Given the description of an element on the screen output the (x, y) to click on. 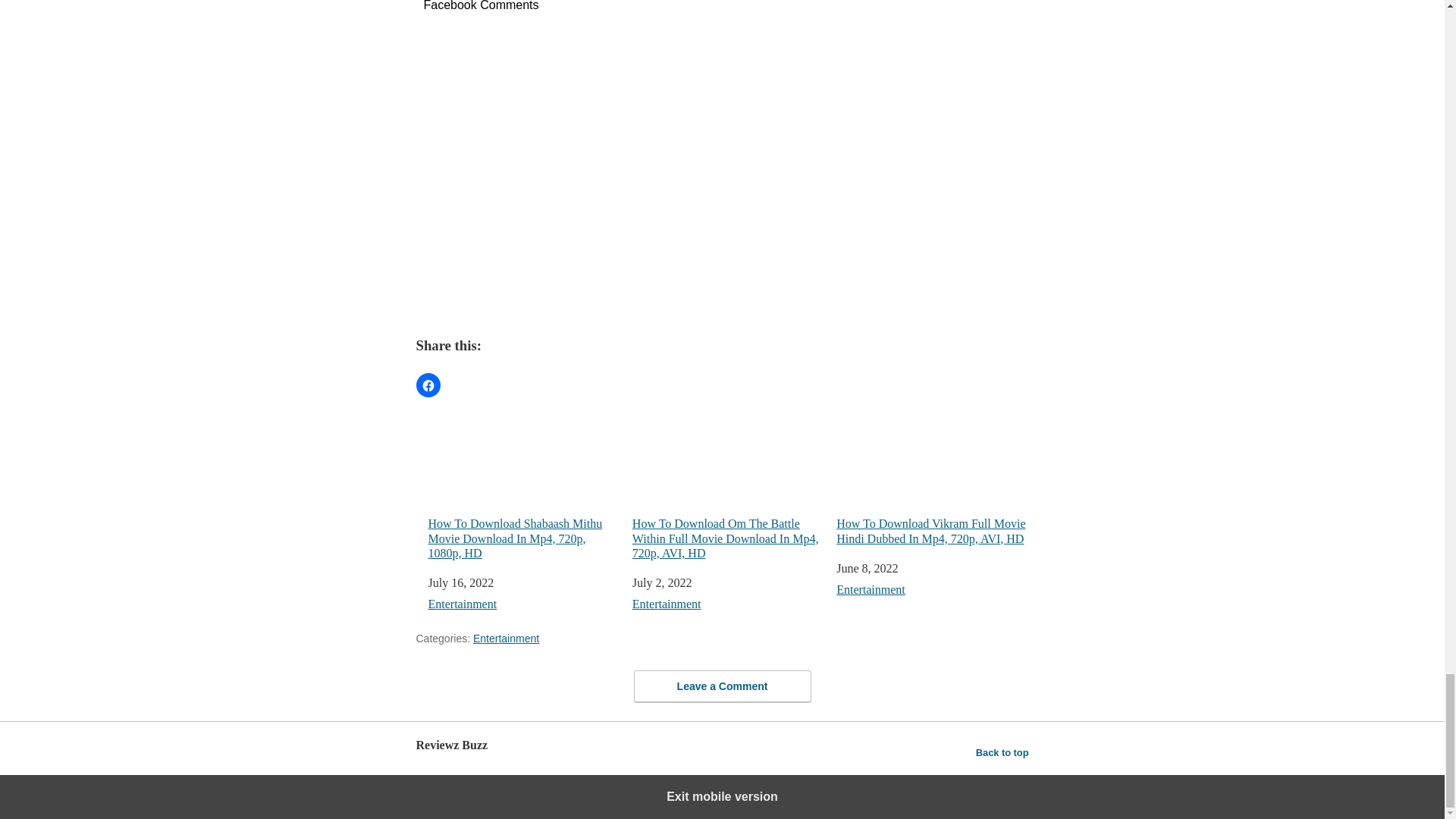
Entertainment (870, 589)
Back to top (1002, 752)
Leave a Comment (721, 686)
Entertainment (462, 603)
Entertainment (666, 603)
Click to share on Facebook (426, 385)
Entertainment (505, 638)
Click to share on X (456, 385)
